Given the description of an element on the screen output the (x, y) to click on. 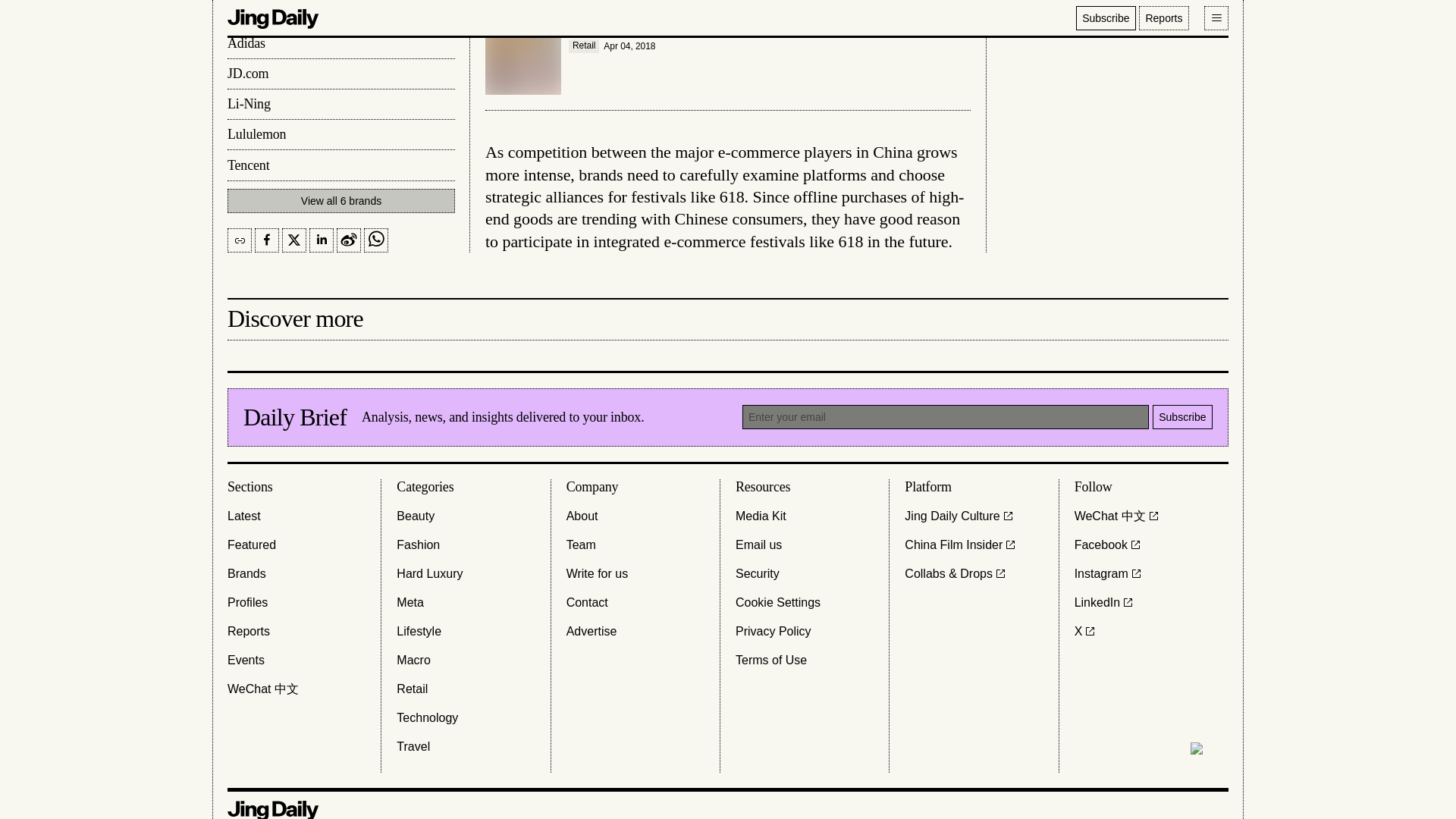
Profiles (247, 601)
Brands (246, 572)
WeChat (262, 688)
The 5 Major Digital Trends in China's High-end Retail (727, 56)
Featured (251, 544)
Reports (248, 630)
Beauty (414, 515)
Events (245, 659)
Latest (243, 515)
